Given the description of an element on the screen output the (x, y) to click on. 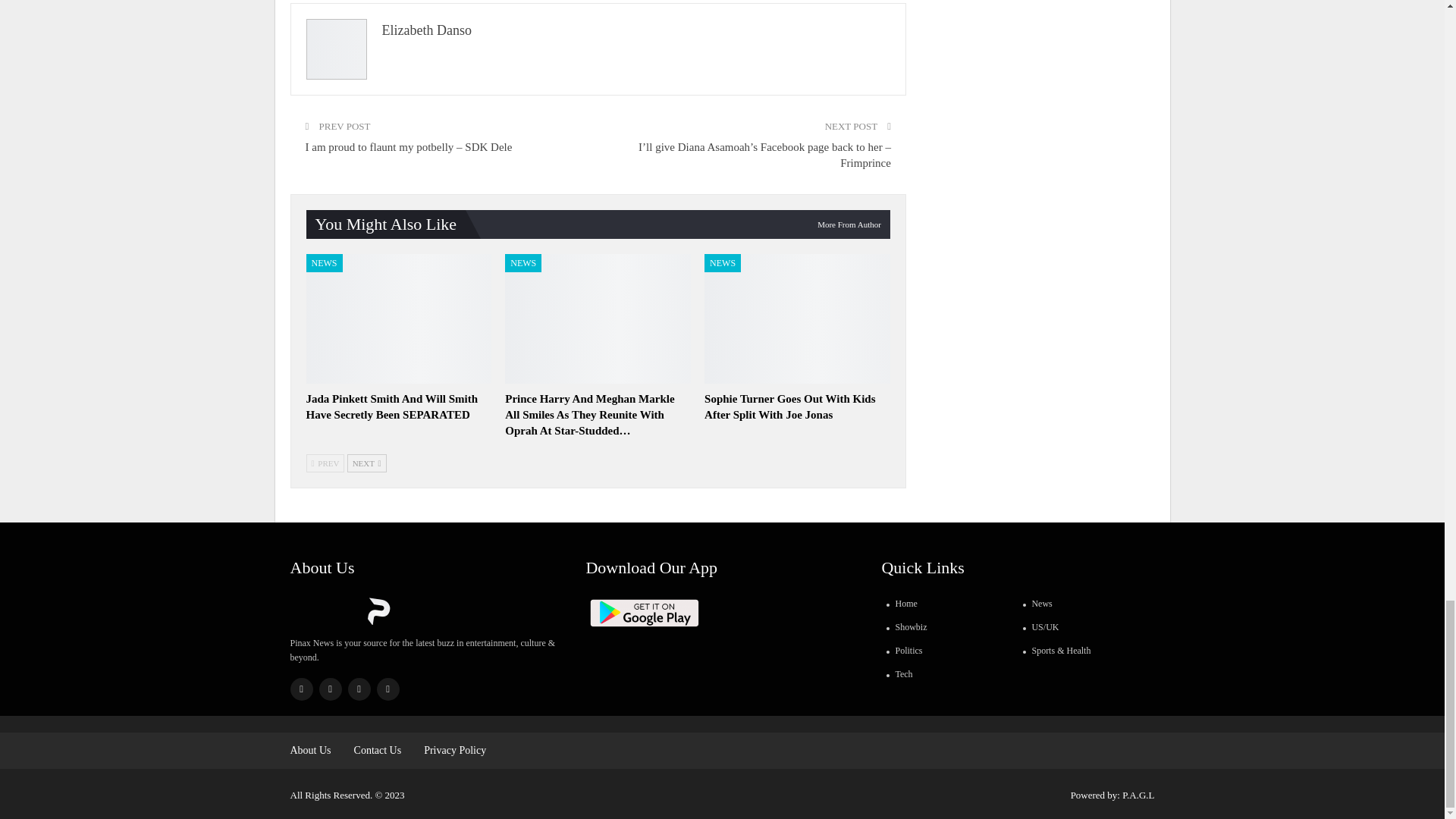
Sophie Turner Goes Out With Kids After Split With Joe Jonas (796, 318)
Previous (325, 463)
Next (367, 463)
Sophie Turner Goes Out With Kids After Split With Joe Jonas (790, 406)
